Given the description of an element on the screen output the (x, y) to click on. 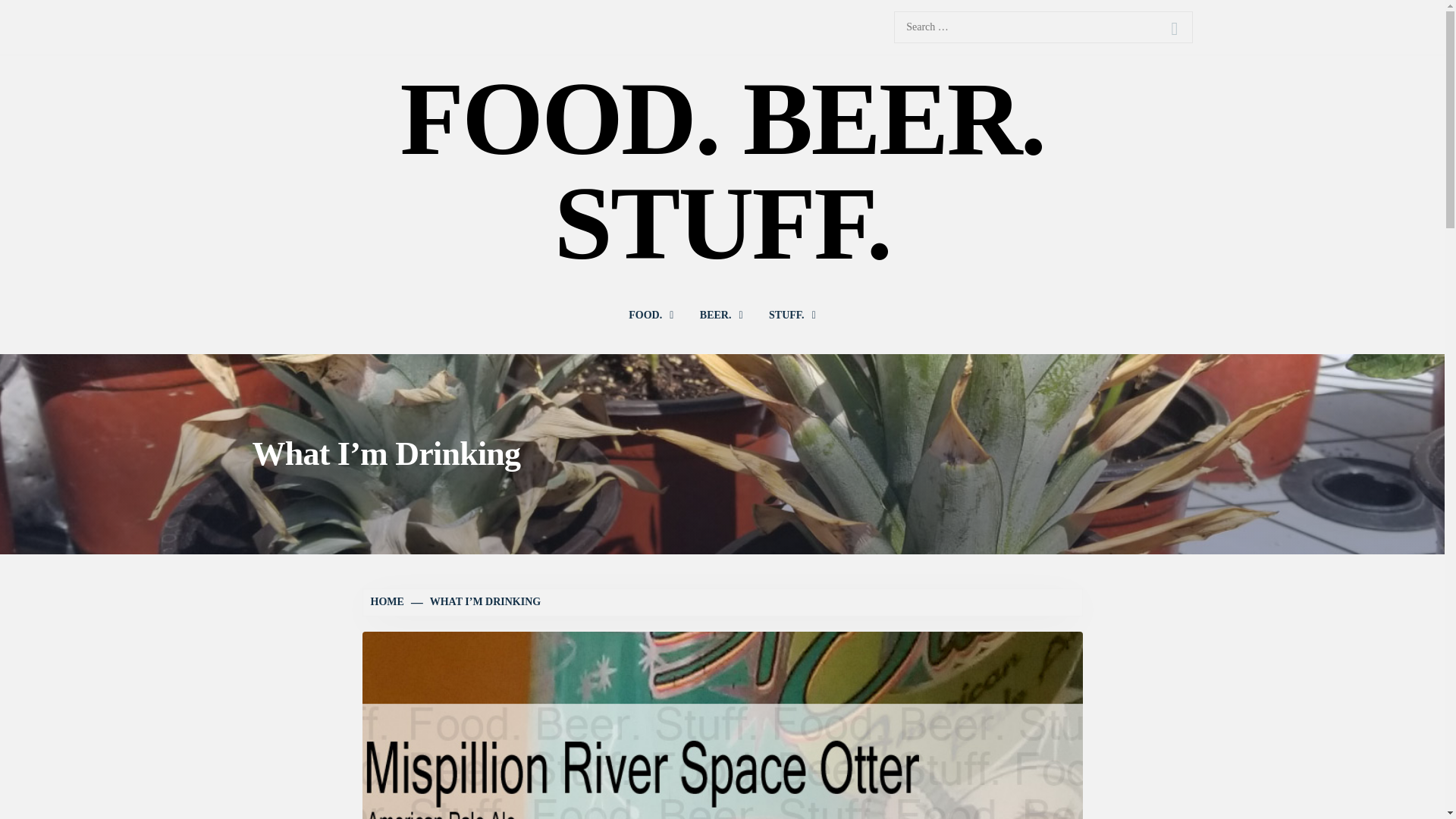
Search (1174, 28)
Search (1174, 28)
STUFF. (792, 315)
Search (1174, 28)
BEER. (721, 315)
HOME (388, 601)
FOOD. (650, 315)
